Given the description of an element on the screen output the (x, y) to click on. 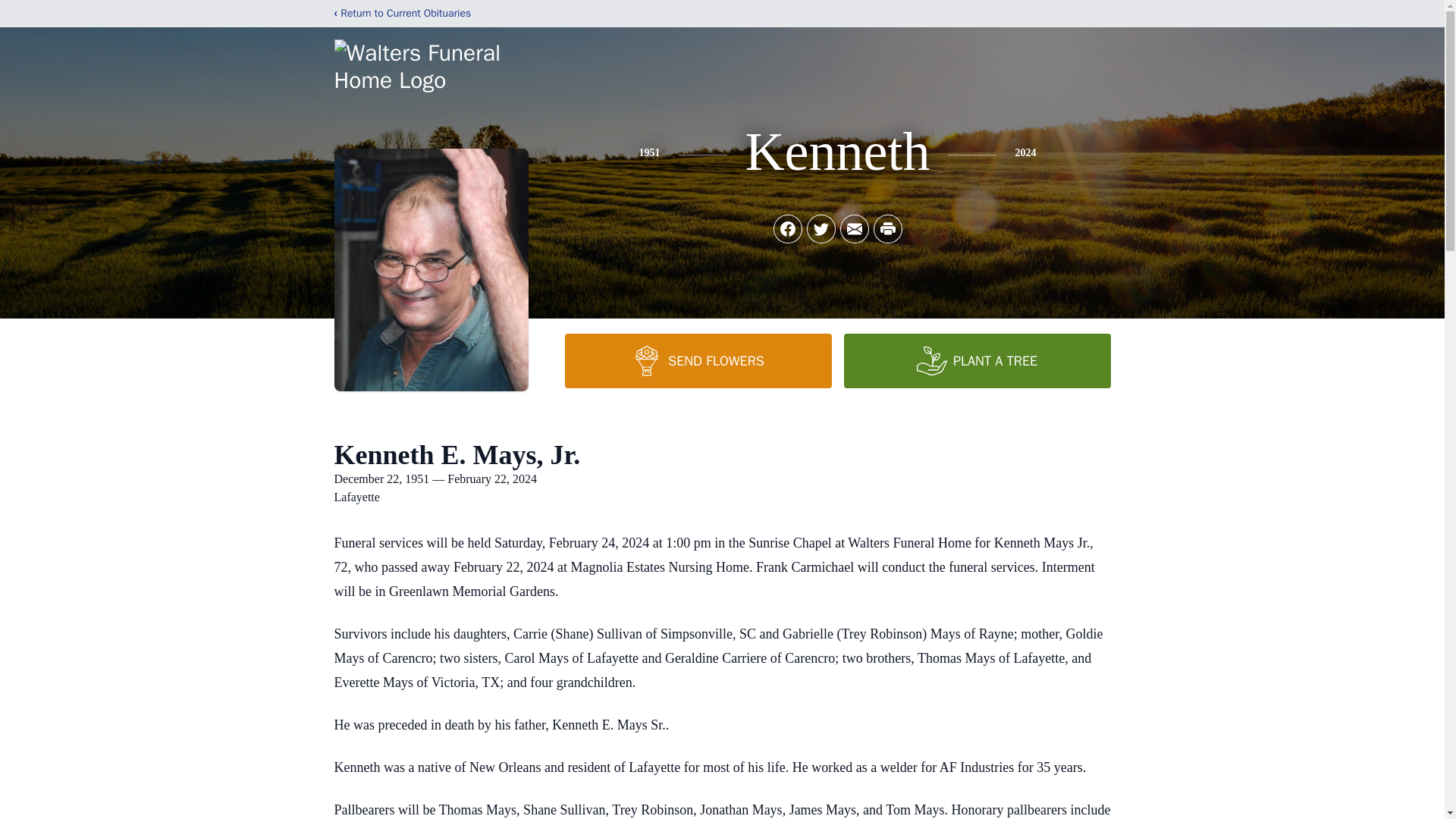
PLANT A TREE (976, 360)
SEND FLOWERS (697, 360)
